Given the description of an element on the screen output the (x, y) to click on. 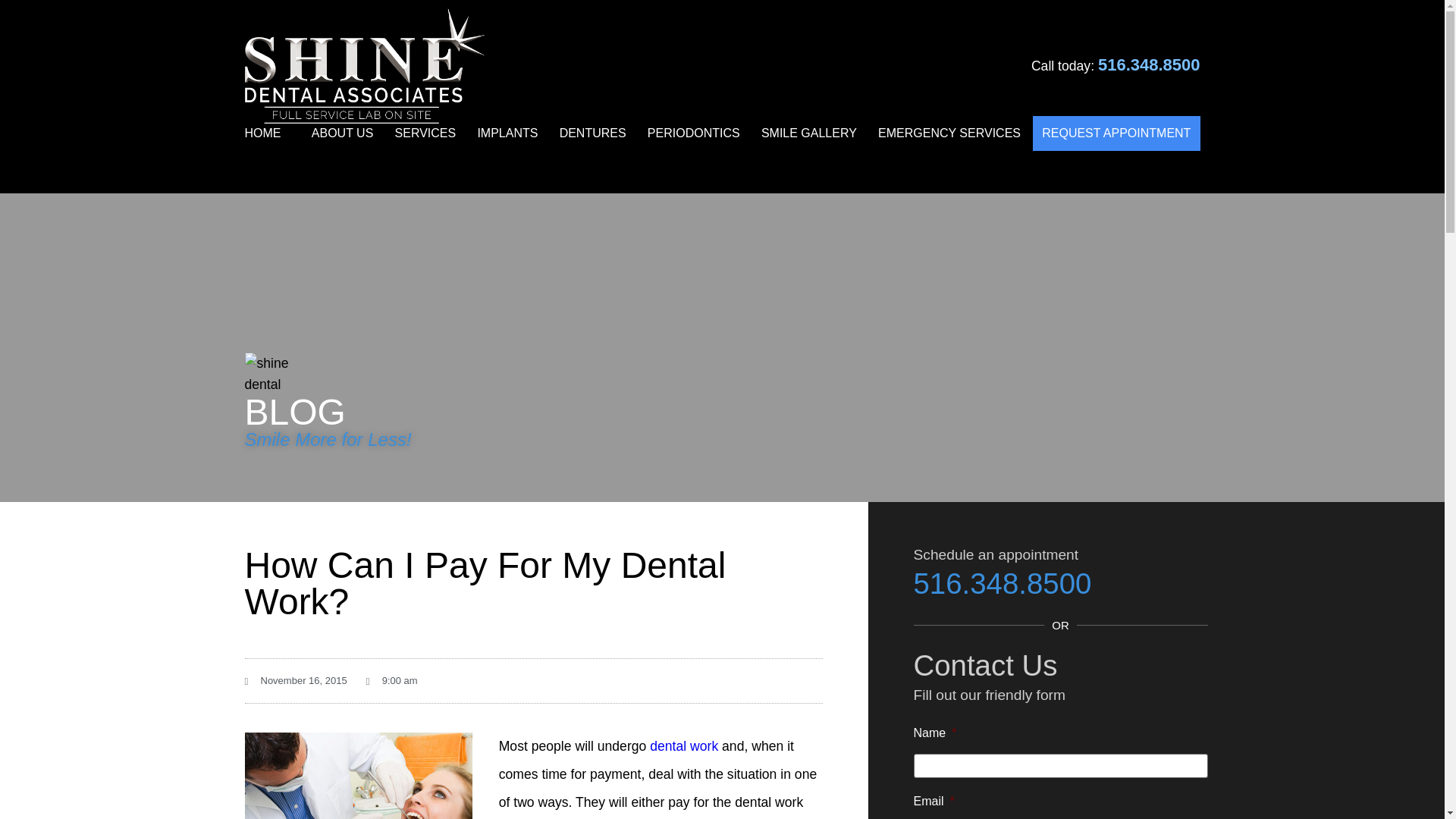
SERVICES (424, 133)
ABOUT US (342, 133)
HOME (271, 133)
Call today: 516.348.8500 (1114, 65)
